Given the description of an element on the screen output the (x, y) to click on. 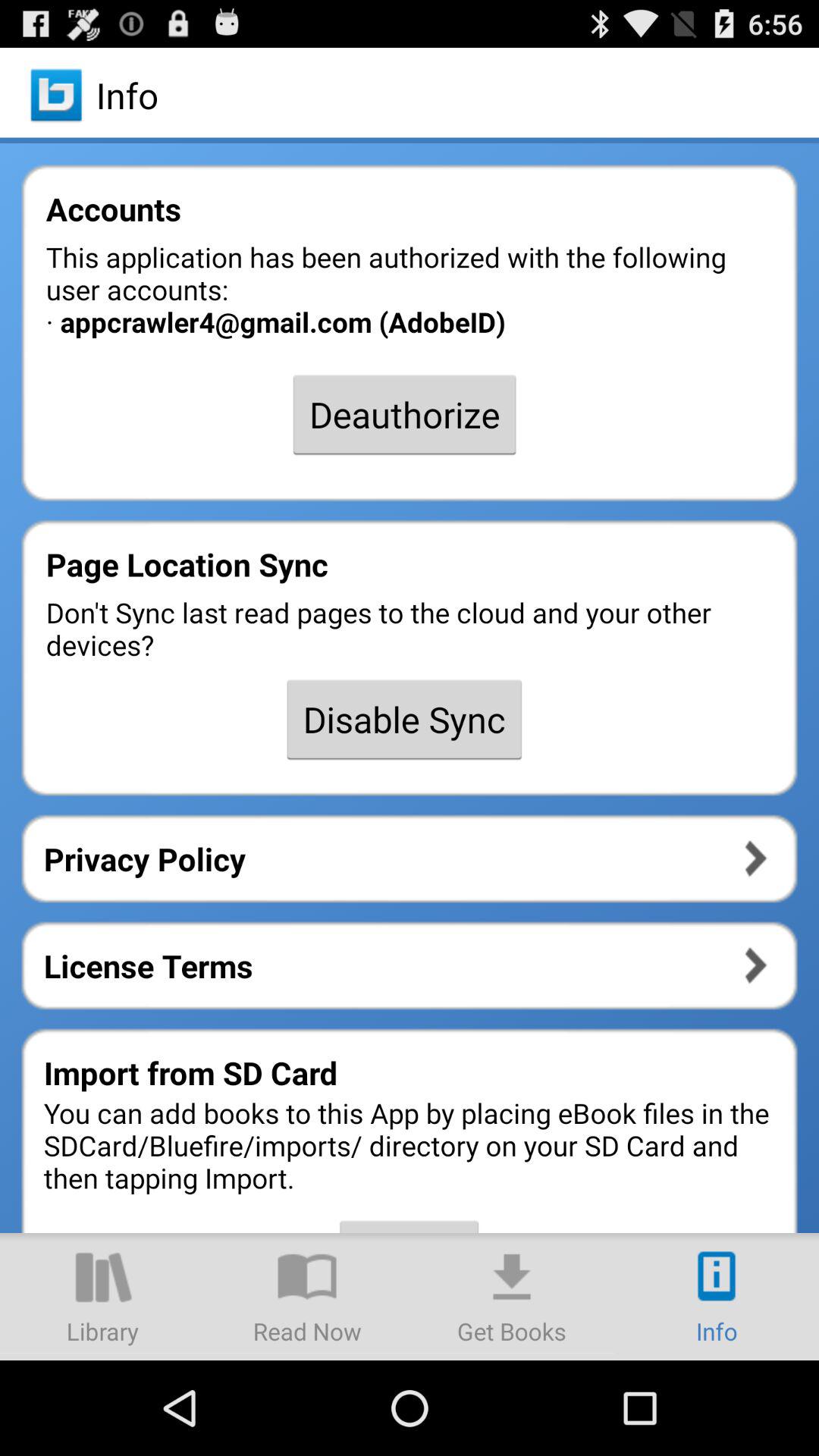
launch the item below import (511, 1296)
